Given the description of an element on the screen output the (x, y) to click on. 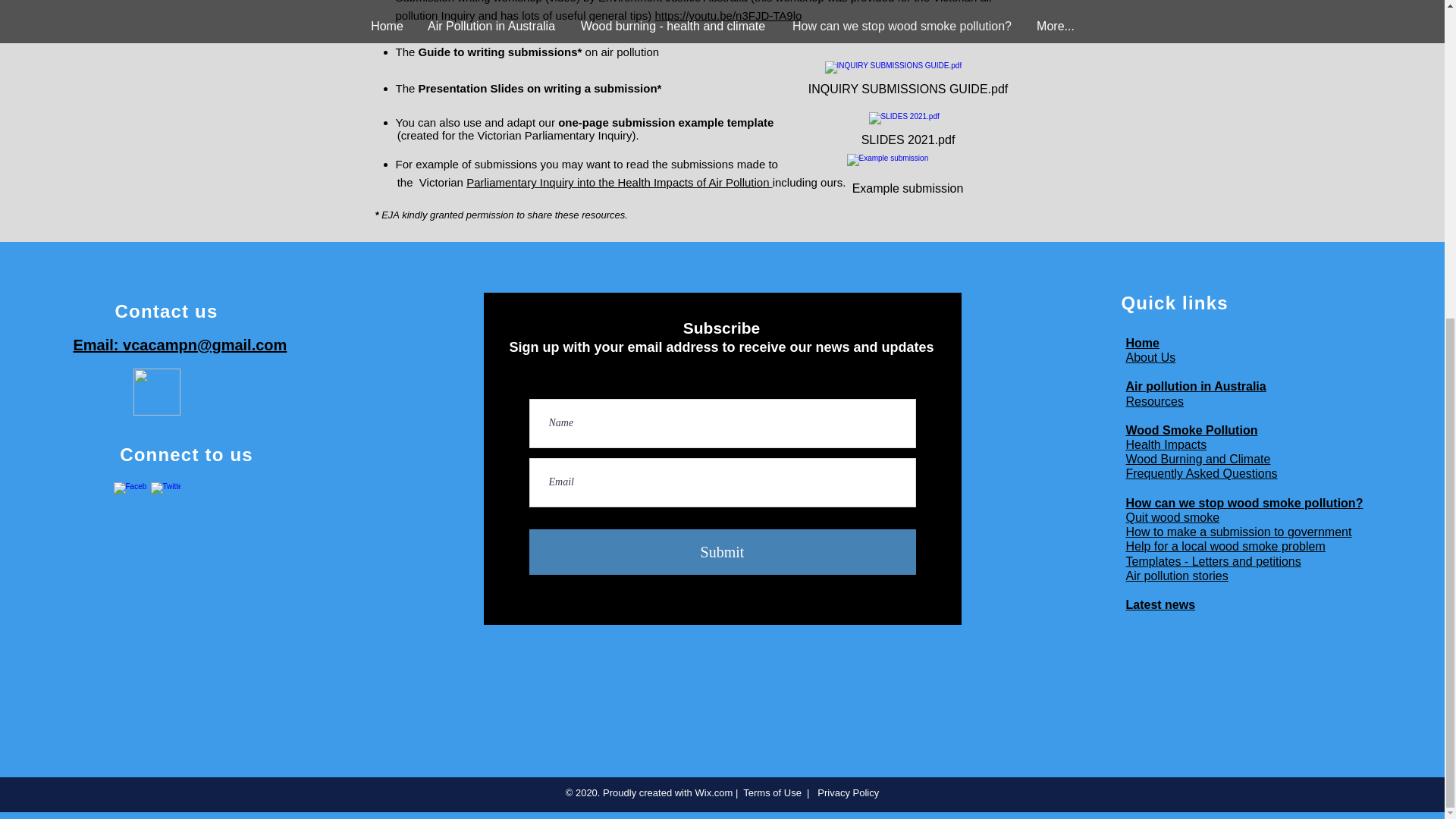
Air pollution in Australia (1195, 386)
Wood Smoke Pollution (1191, 430)
Wood Burning and Climate (1197, 459)
Example submission  (907, 177)
Health Impacts (1166, 444)
INQUIRY SUBMISSIONS GUIDE.pdf (907, 82)
About Us (1149, 357)
SLIDES 2021.pdf (907, 132)
Resources (1153, 400)
Home (1141, 342)
INQUIRY SUBMISSIONS GUIDE.pdf (907, 82)
Example submission (907, 177)
SLIDES 2021.pdf (907, 132)
Submit (722, 551)
